Given the description of an element on the screen output the (x, y) to click on. 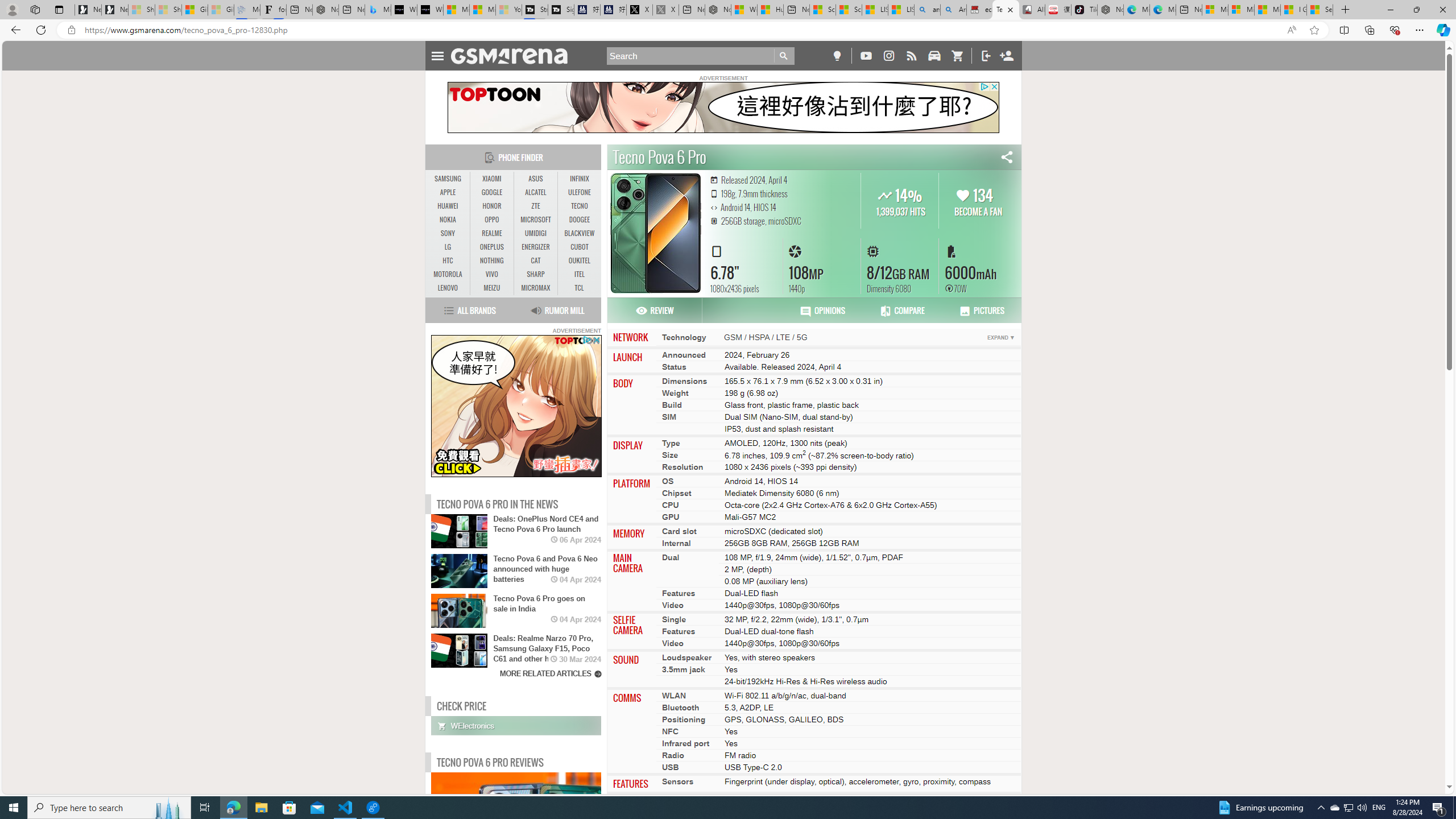
NOKIA (448, 219)
OUKITEL (579, 260)
Build (671, 404)
REALME (491, 233)
I Gained 20 Pounds of Muscle in 30 Days! | Watch (1293, 9)
ONEPLUS (491, 246)
To get missing image descriptions, open the context menu. (515, 405)
SAMSUNG (448, 178)
X (639, 9)
